Given the description of an element on the screen output the (x, y) to click on. 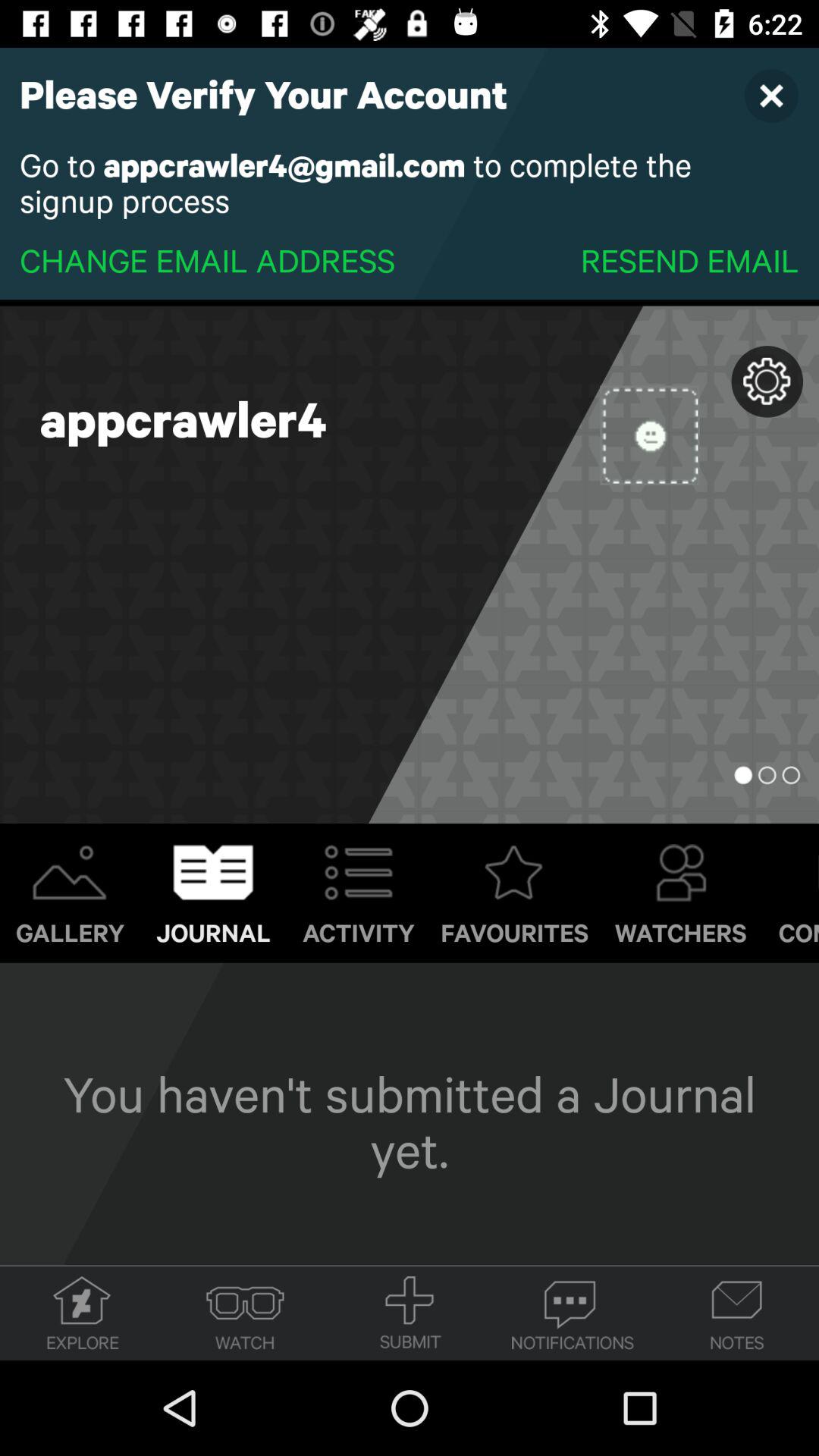
press item below the go to appcrawler4 item (689, 259)
